Given the description of an element on the screen output the (x, y) to click on. 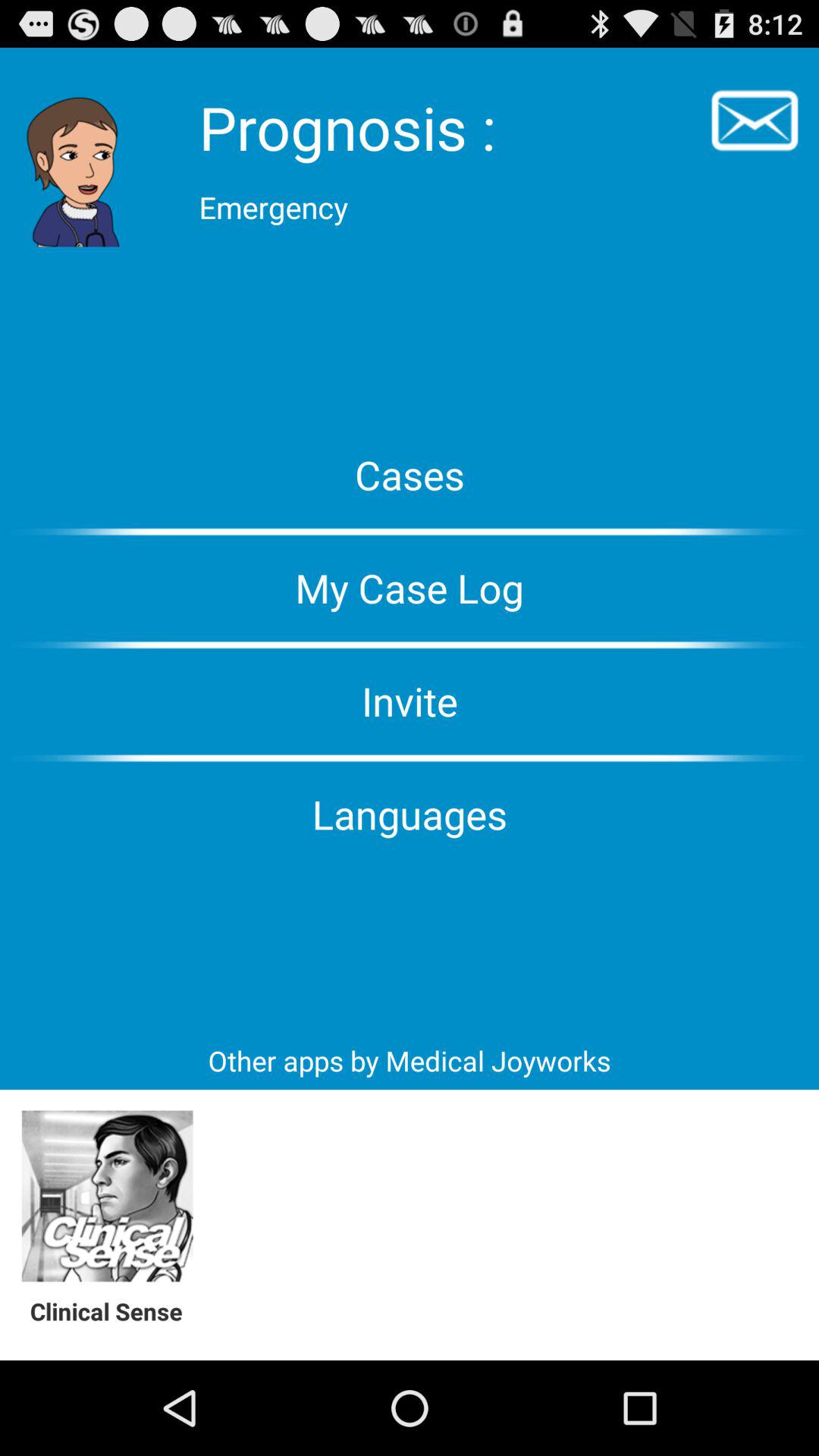
view clinical sense app (107, 1196)
